Given the description of an element on the screen output the (x, y) to click on. 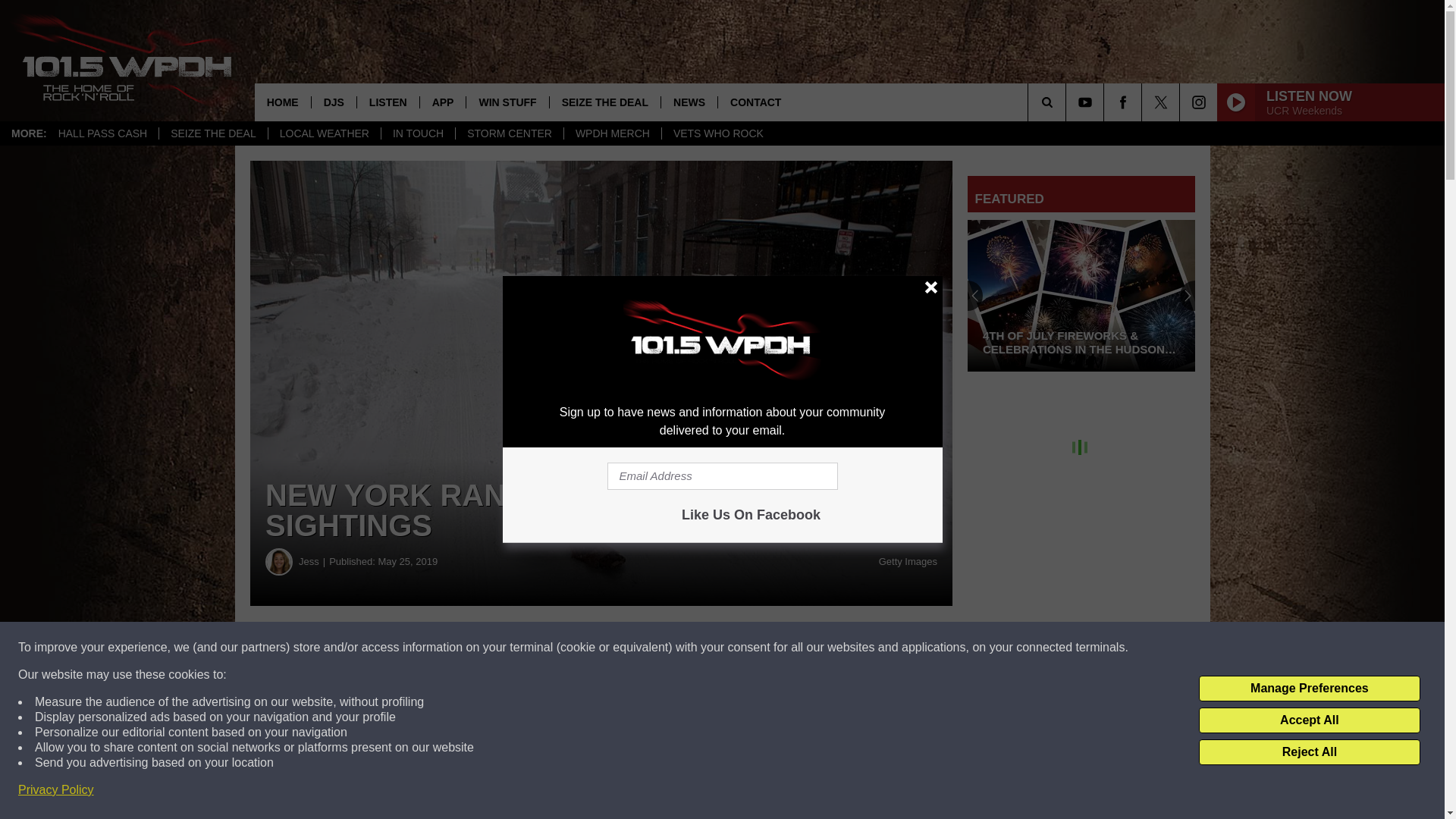
WIN STUFF (506, 102)
Email Address (722, 475)
SEIZE THE DEAL (604, 102)
Manage Preferences (1309, 688)
WPDH MERCH (612, 133)
NEWS (689, 102)
LISTEN (387, 102)
Reject All (1309, 751)
HALL PASS CASH (102, 133)
LOCAL WEATHER (323, 133)
STORM CENTER (508, 133)
Share on Facebook (460, 647)
Privacy Policy (55, 789)
SEARCH (1068, 102)
HOME (282, 102)
